Given the description of an element on the screen output the (x, y) to click on. 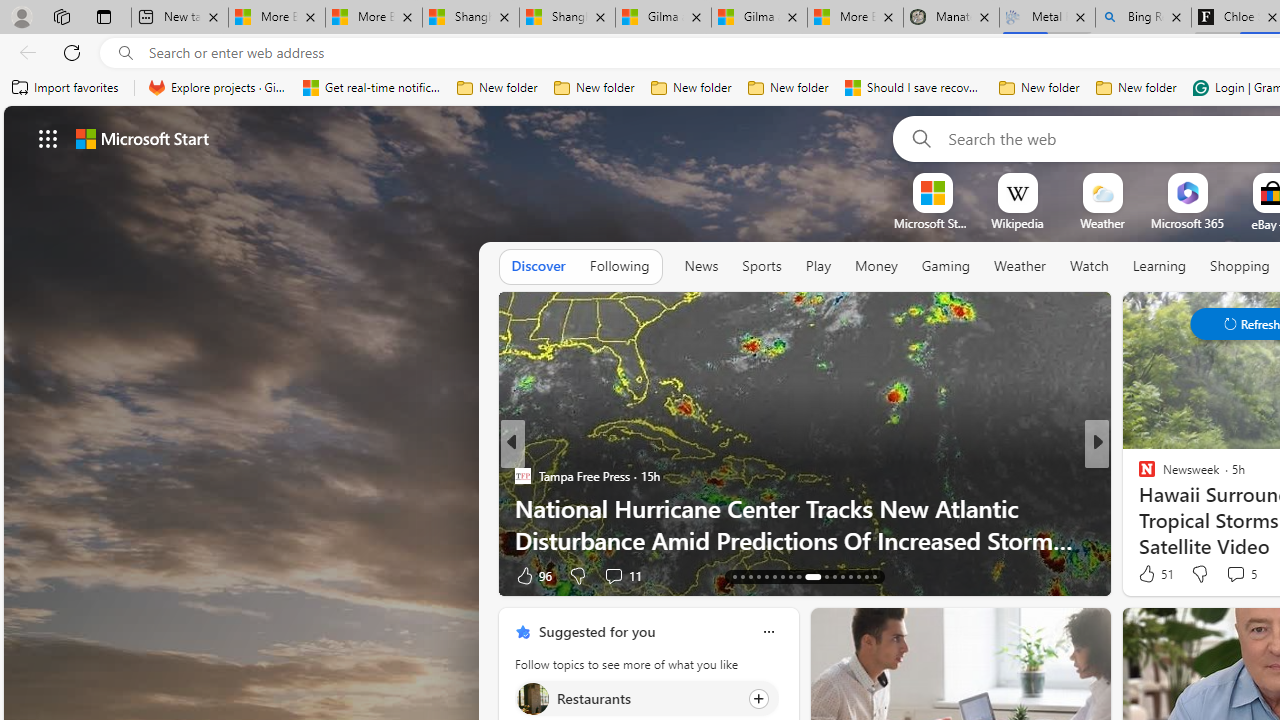
AutomationID: tab-30 (850, 576)
AutomationID: tab-19 (750, 576)
AutomationID: tab-23 (782, 576)
View comments 3 Comment (1234, 574)
Lifehacker (1138, 475)
Shopping (1240, 265)
